Given the description of an element on the screen output the (x, y) to click on. 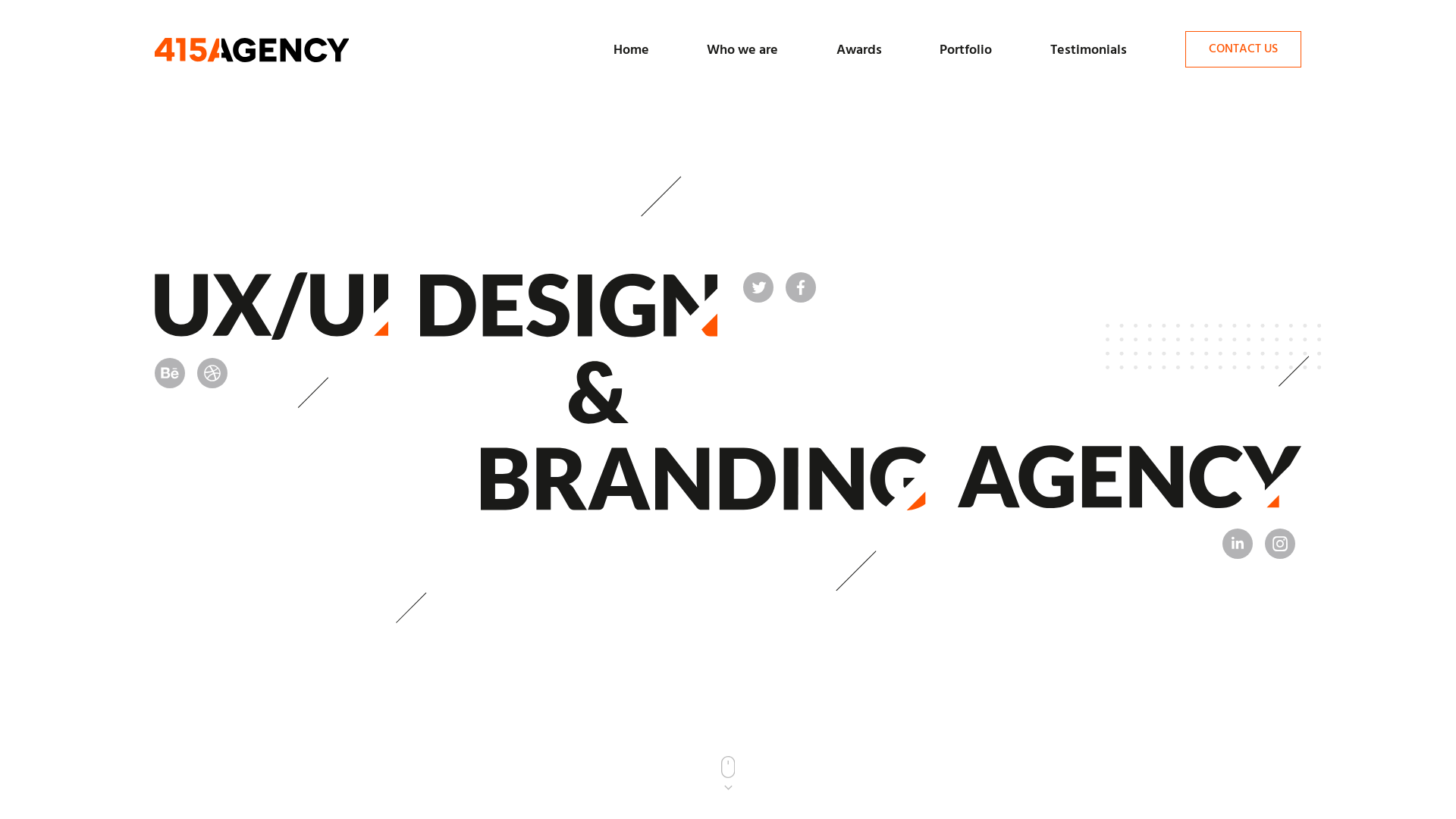
Testimonials Element type: text (1088, 50)
Portfolio Element type: text (965, 50)
Home Element type: text (631, 50)
Awards Element type: text (858, 50)
CONTACT US Element type: text (1243, 49)
Who we are Element type: text (742, 50)
